Given the description of an element on the screen output the (x, y) to click on. 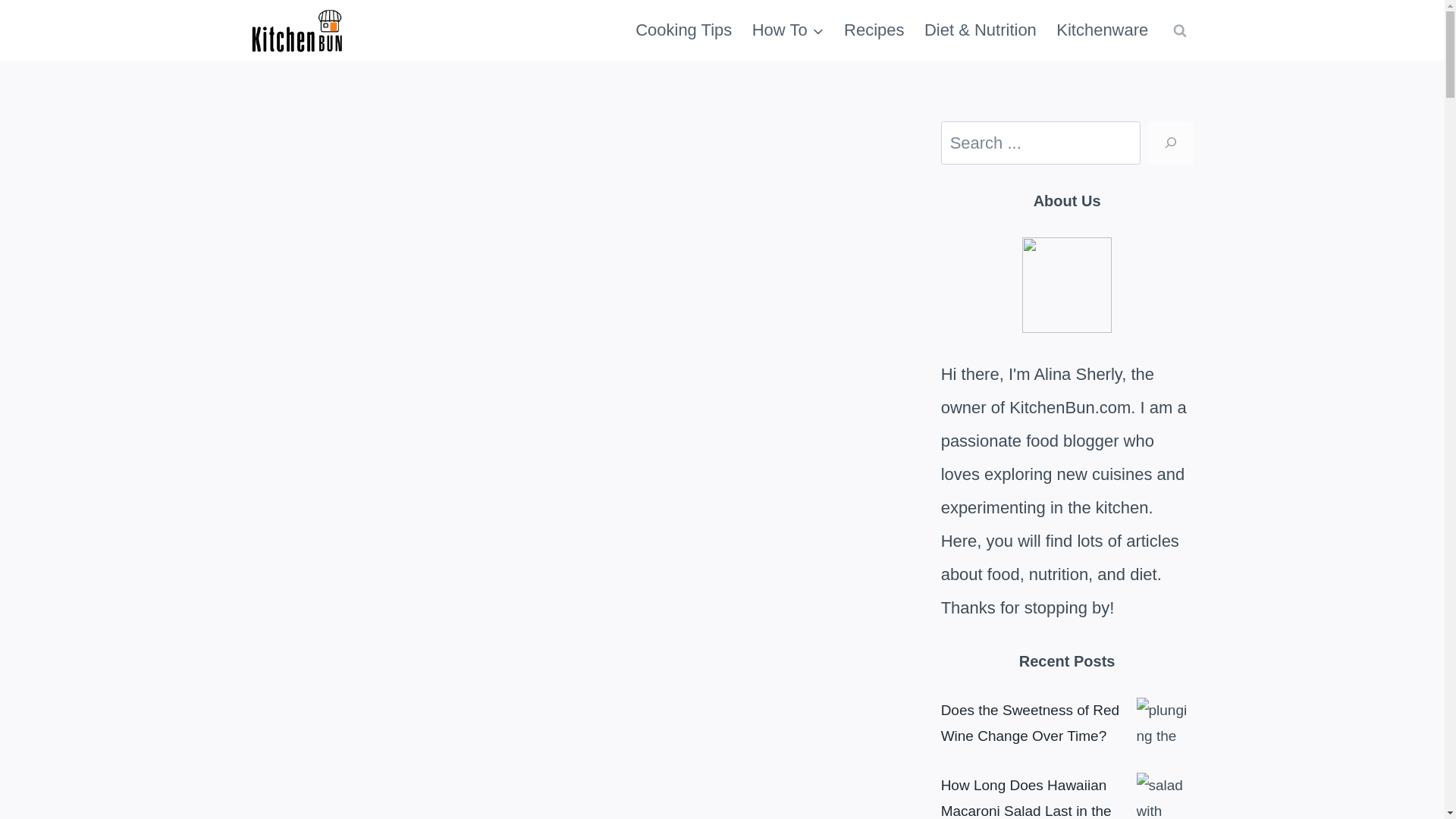
Kitchenware (1101, 29)
How To (788, 29)
Recipes (874, 29)
Cooking Tips (684, 29)
